Given the description of an element on the screen output the (x, y) to click on. 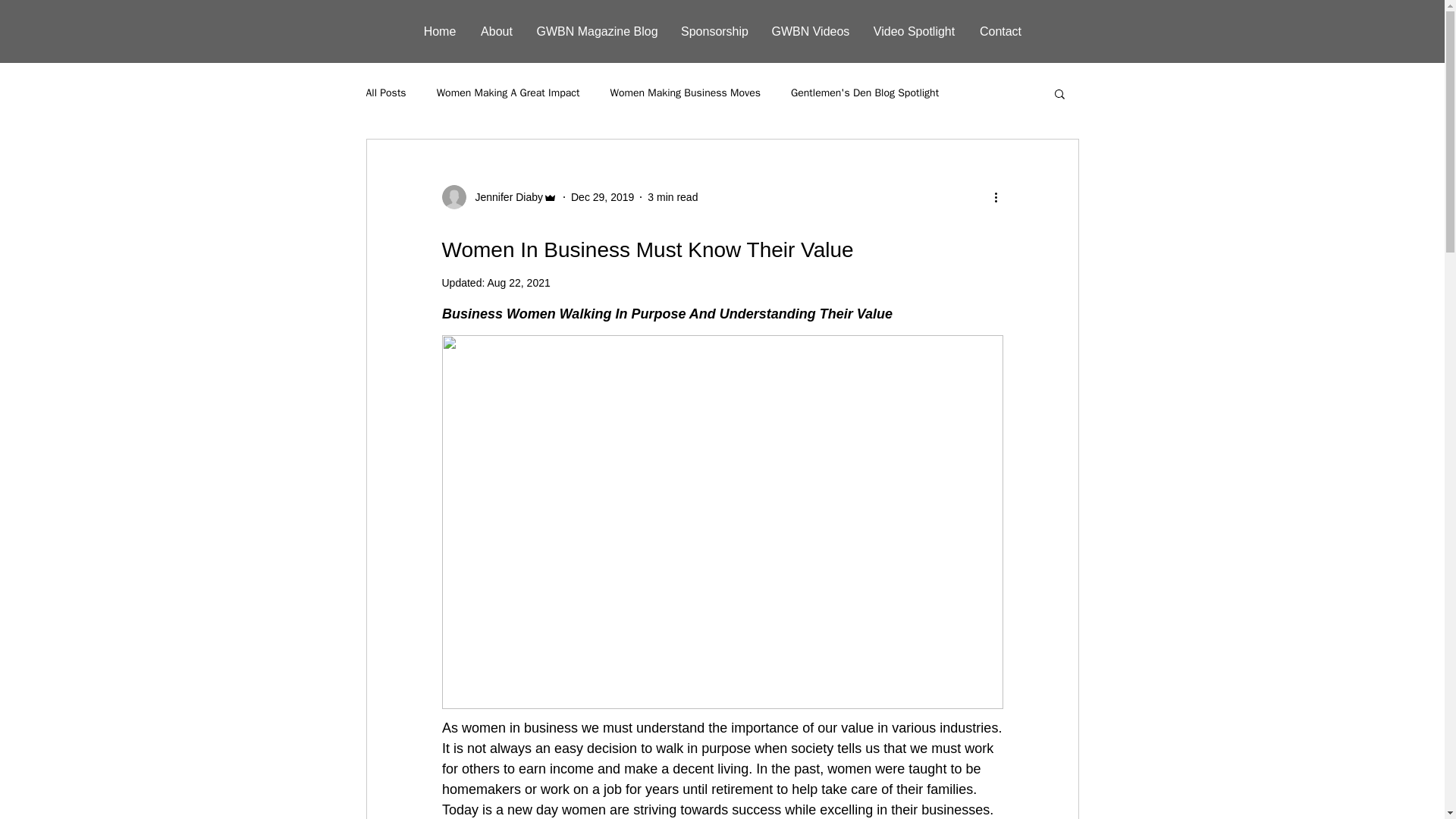
Contact (1000, 31)
Home (438, 31)
Dec 29, 2019 (601, 196)
About (496, 31)
Jennifer Diaby (504, 197)
GWBN Magazine Blog (596, 31)
Women Making A Great Impact (507, 92)
Video Spotlight (914, 31)
All Posts (385, 92)
3 min read (672, 196)
